Given the description of an element on the screen output the (x, y) to click on. 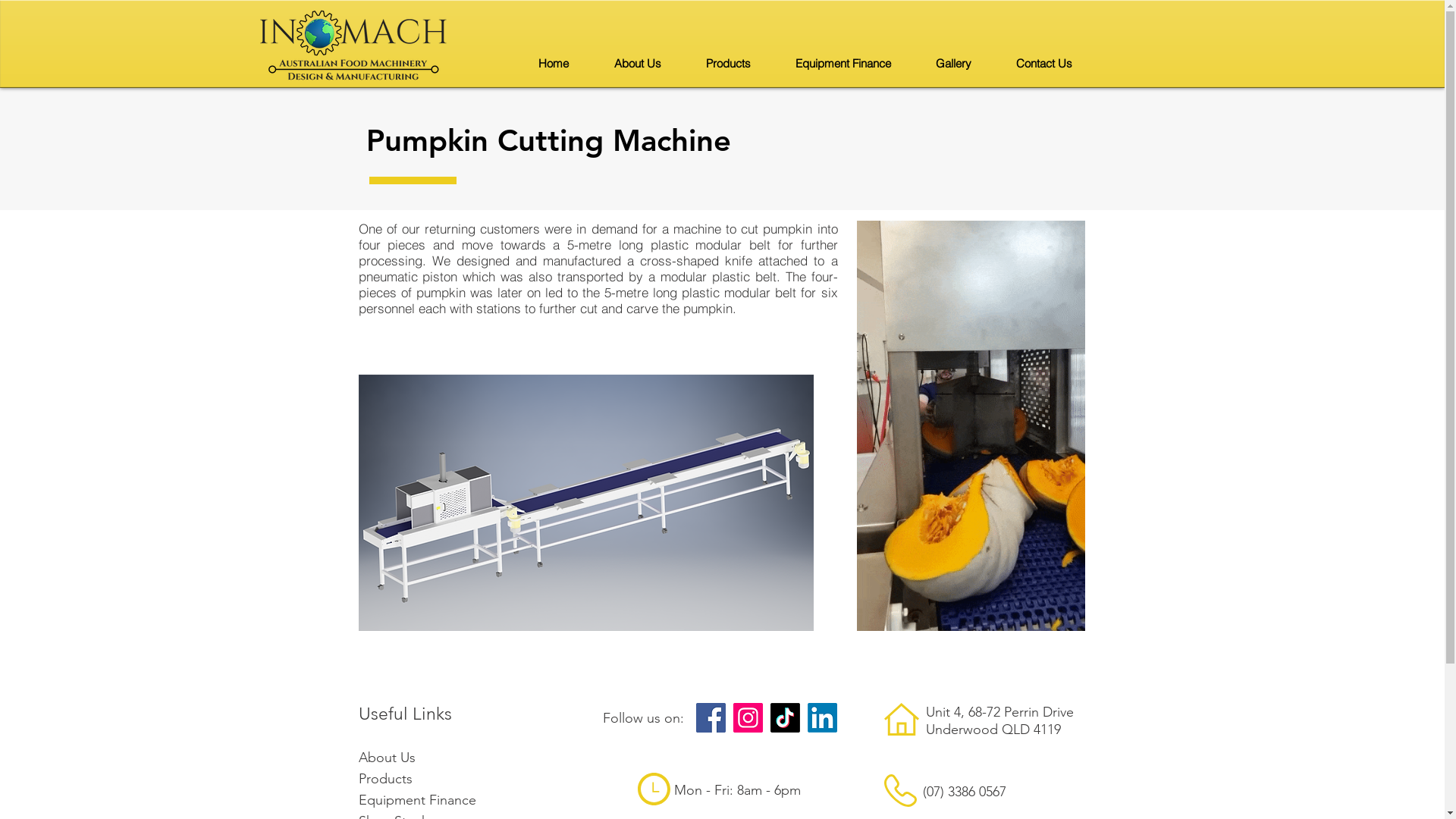
Home Element type: text (552, 63)
Products Element type: text (726, 63)
(07) 3386 0567 Element type: text (963, 791)
About Us Element type: text (385, 755)
Equipment Finance Element type: text (416, 799)
About Us Element type: text (637, 63)
Equipment Finance Element type: text (841, 63)
Unit 4, 68-72 Perrin Drive
Underwood QLD 4119 Element type: text (999, 719)
Gallery Element type: text (953, 63)
Contact Us Element type: text (1043, 63)
